Given the description of an element on the screen output the (x, y) to click on. 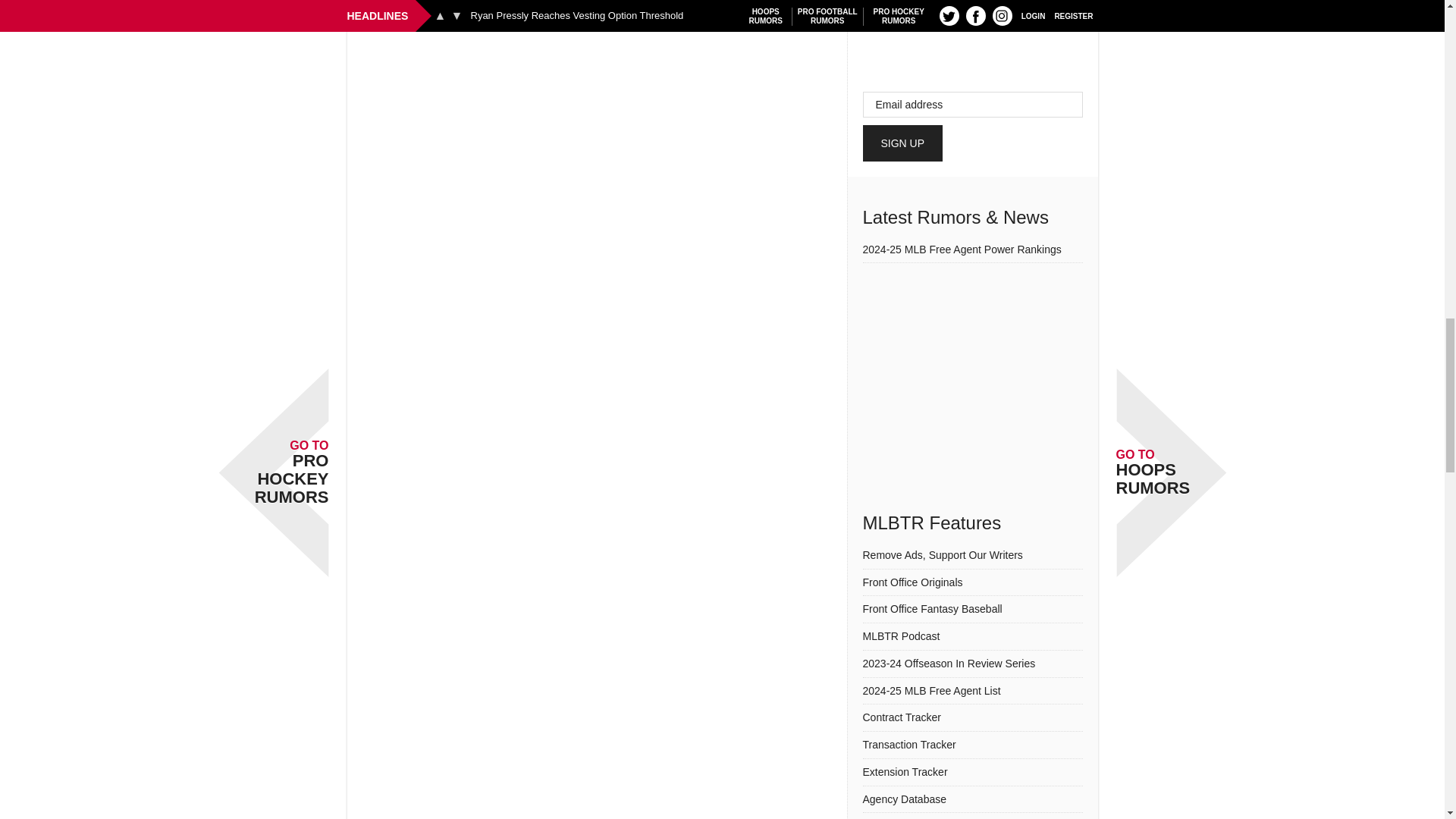
Sign Up (903, 143)
